Given the description of an element on the screen output the (x, y) to click on. 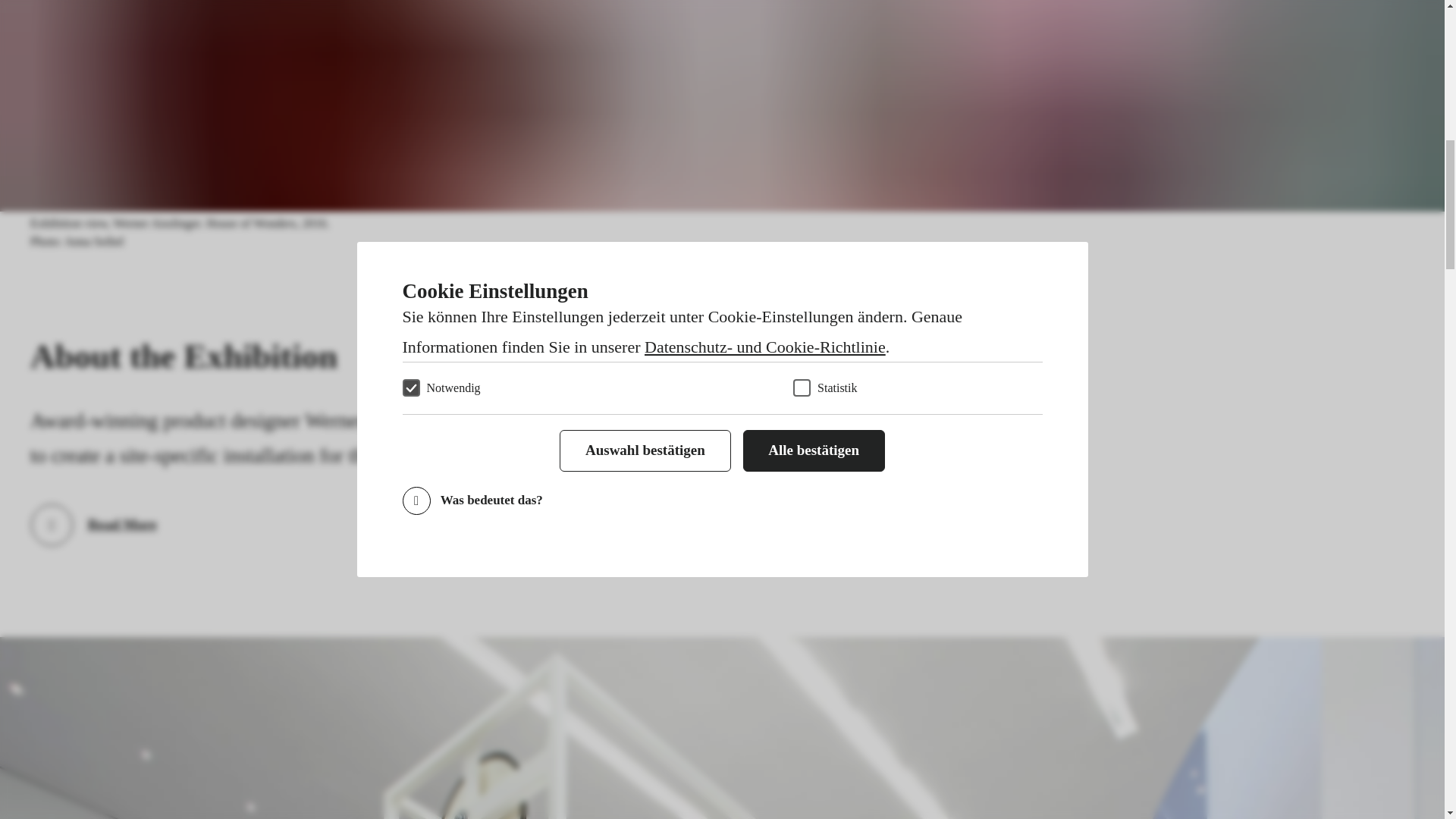
Read More (93, 525)
